Given the description of an element on the screen output the (x, y) to click on. 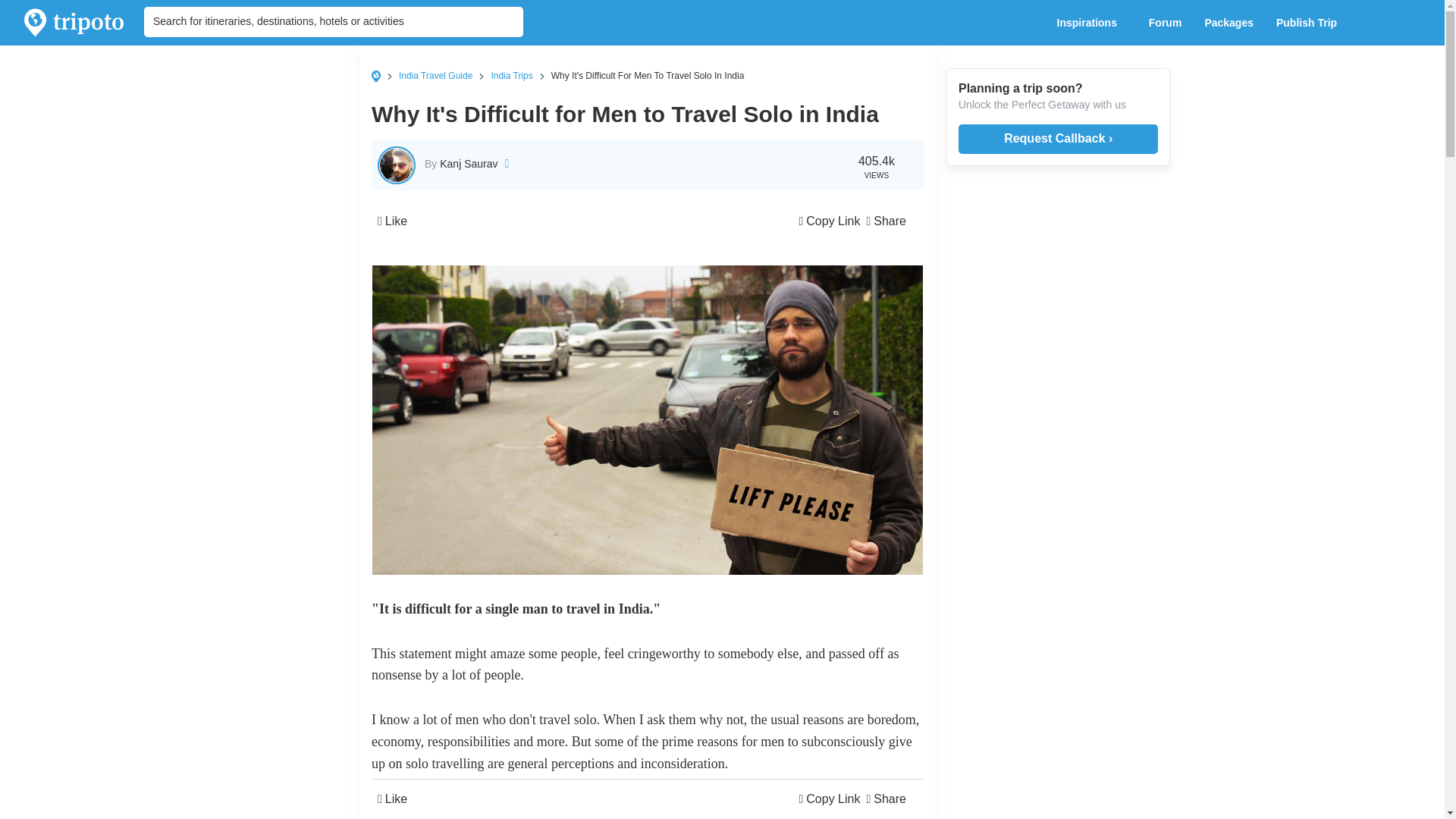
Why It's Difficult For Men To Travel Solo In India (647, 75)
Packages (1228, 22)
India Trips (511, 75)
Packages (1228, 22)
Forum (1165, 22)
Tripoto: India's Largest Community of Travellers (73, 22)
Inspirations (1091, 22)
India Travel Guide (434, 75)
Inspirations (1091, 22)
Publish Trip  (1310, 22)
